Given the description of an element on the screen output the (x, y) to click on. 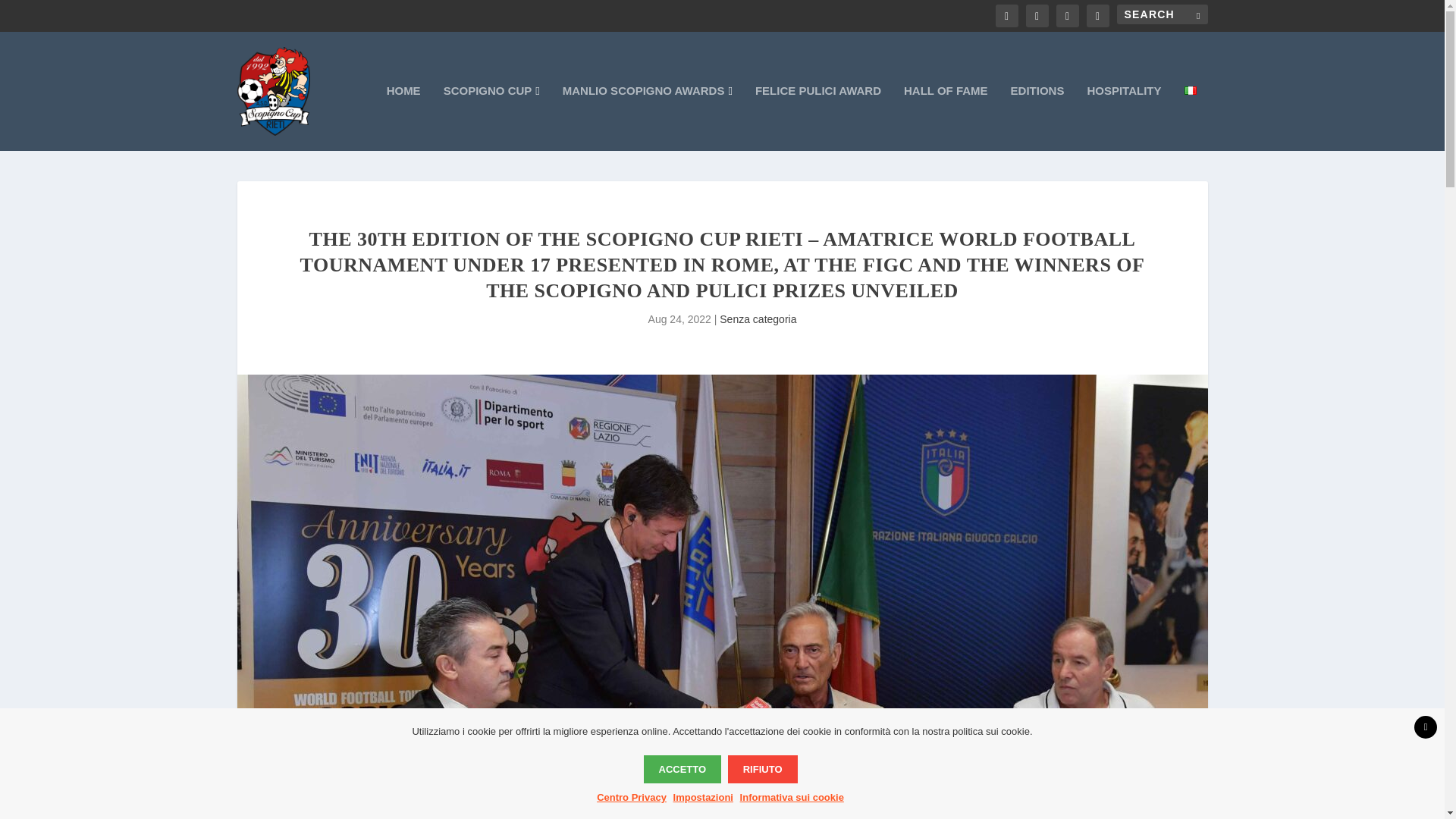
EDITIONS (1037, 117)
FELICE PULICI AWARD (817, 117)
Search for: (1161, 14)
SCOPIGNO CUP (492, 117)
MANLIO SCOPIGNO AWARDS (647, 117)
HOME (403, 117)
HOSPITALITY (1123, 117)
HALL OF FAME (946, 117)
